Given the description of an element on the screen output the (x, y) to click on. 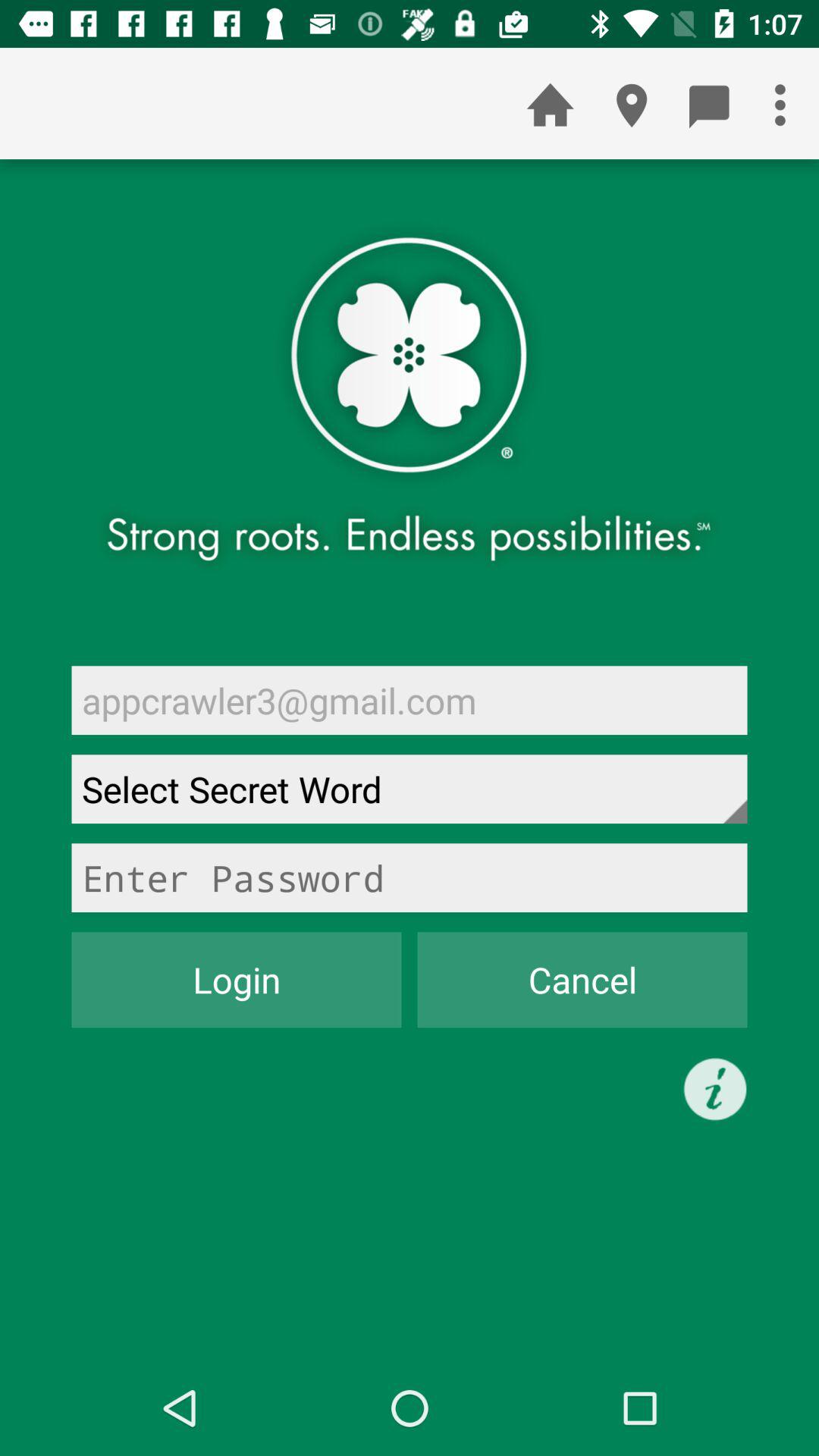
click the icon below cancel (715, 1089)
